Given the description of an element on the screen output the (x, y) to click on. 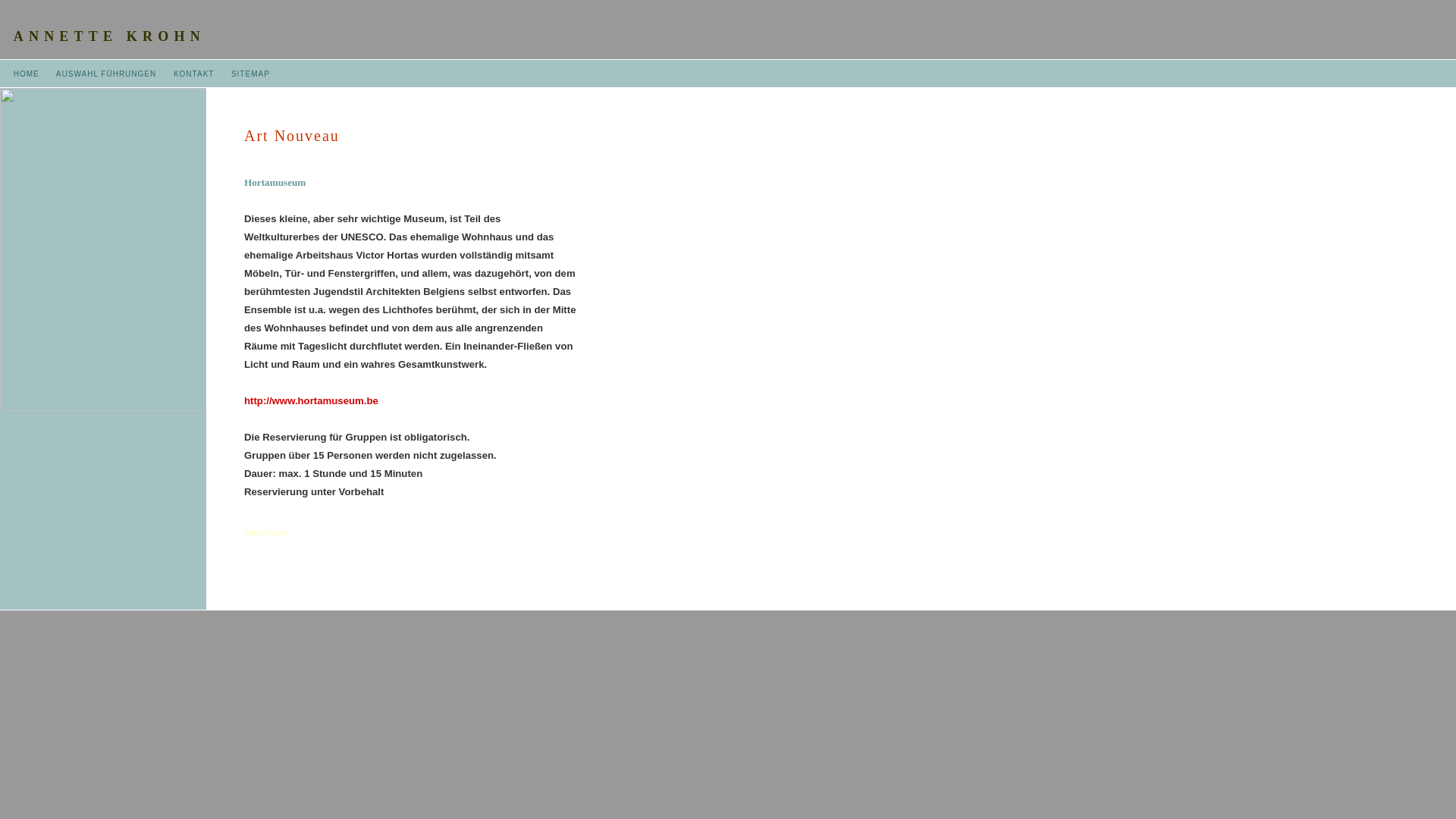
HOME Element type: text (26, 73)
SITEMAP Element type: text (250, 73)
KONTAKT Element type: text (193, 73)
http://www.hortamuseum.be Element type: text (311, 400)
